Given the description of an element on the screen output the (x, y) to click on. 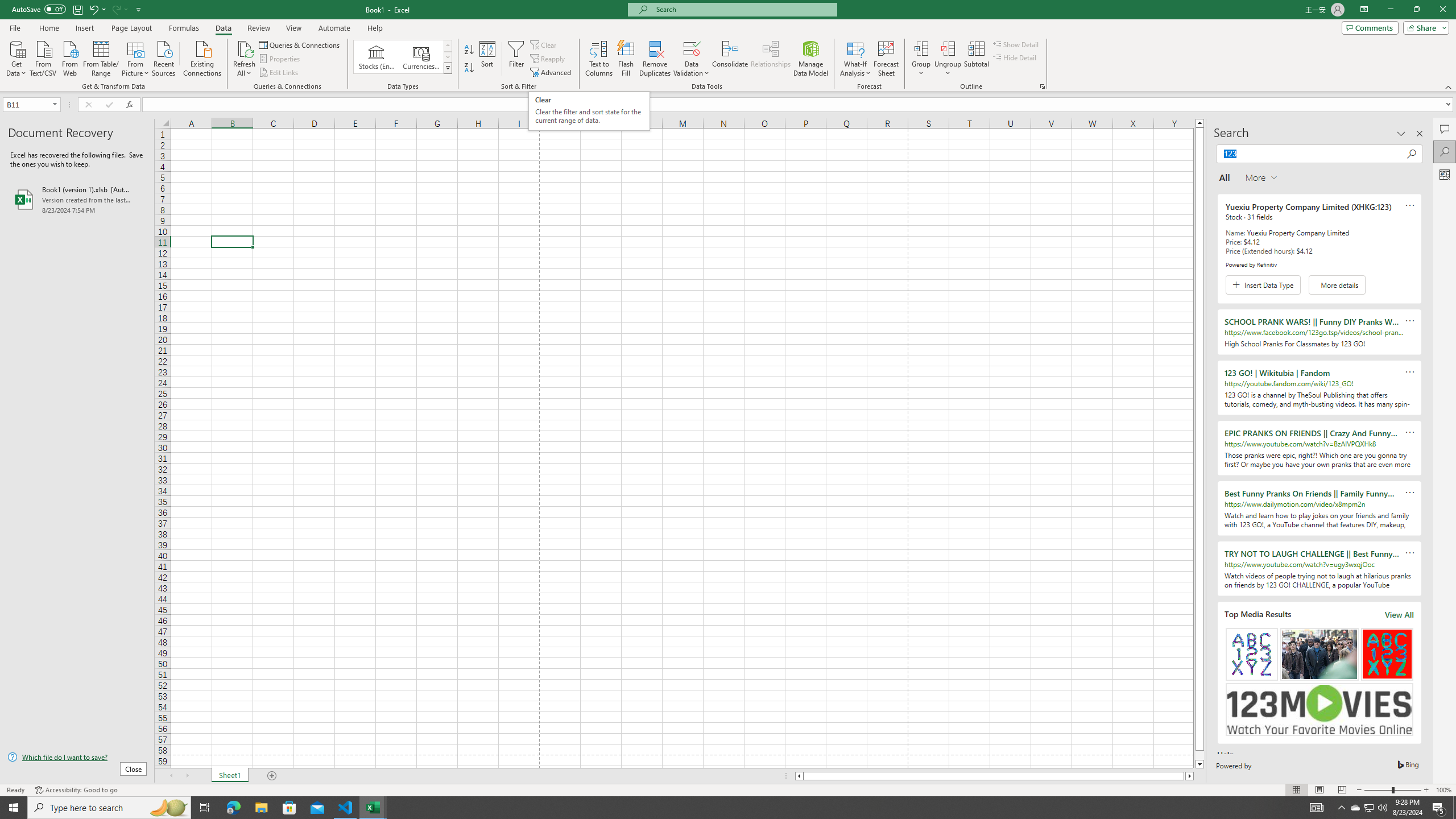
Reapply (548, 58)
Remove Duplicates (654, 58)
Forecast Sheet (885, 58)
Existing Connections (202, 57)
Manage Data Model (810, 58)
Stocks (English) (375, 56)
Flash Fill (625, 58)
